Given the description of an element on the screen output the (x, y) to click on. 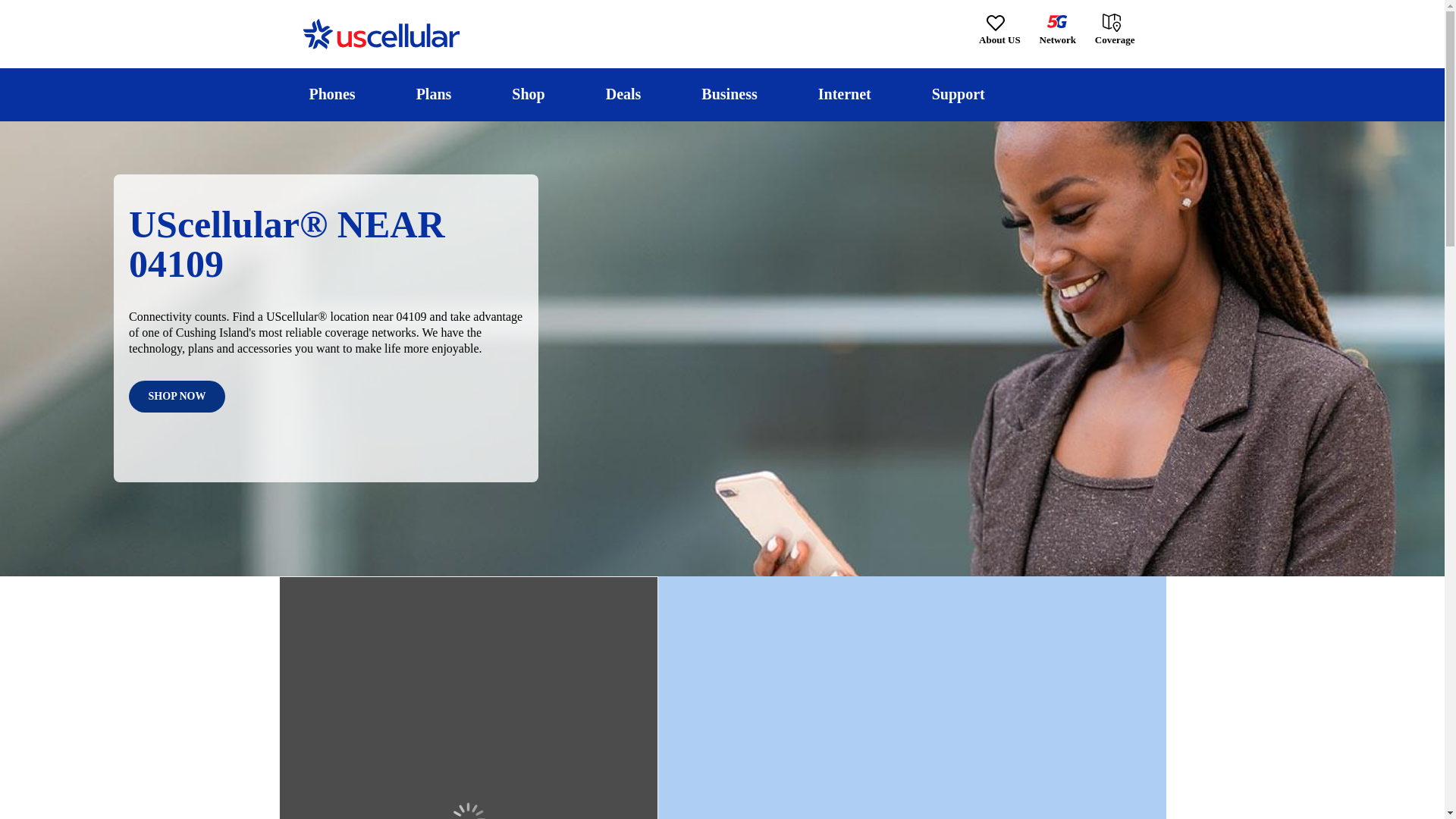
Phones (332, 94)
About US (999, 30)
Internet (844, 94)
Shop (528, 94)
Network (1057, 30)
Coverage (1115, 29)
Support (957, 94)
Business (729, 94)
Plans (433, 94)
Deals (623, 94)
